Given the description of an element on the screen output the (x, y) to click on. 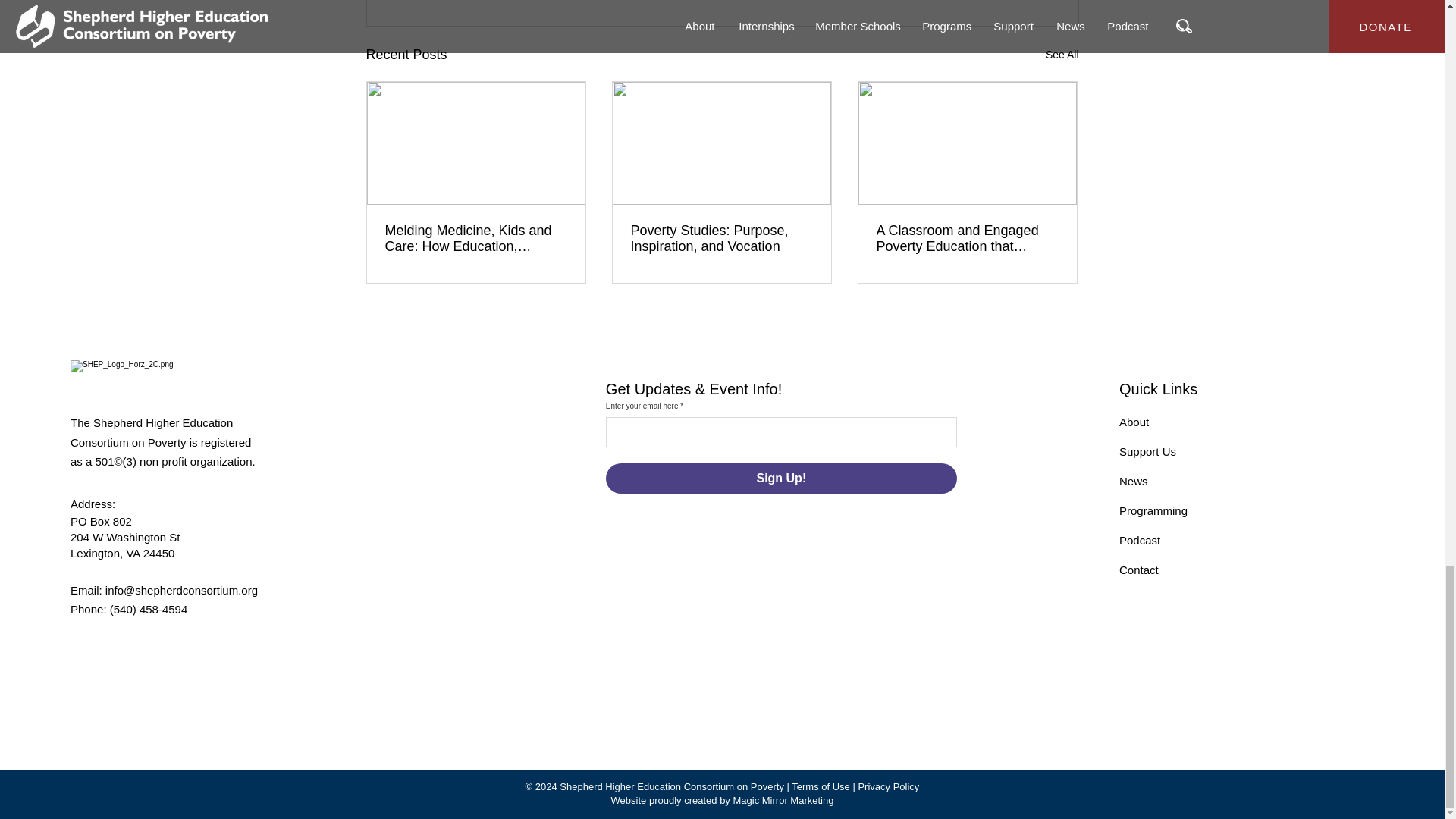
Poverty Studies: Purpose, Inspiration, and Vocation (721, 238)
See All (1061, 55)
About (1133, 421)
A Classroom and Engaged Poverty Education that Continues (967, 238)
Sign Up! (780, 478)
Support Us (1147, 451)
News (1133, 481)
